Given the description of an element on the screen output the (x, y) to click on. 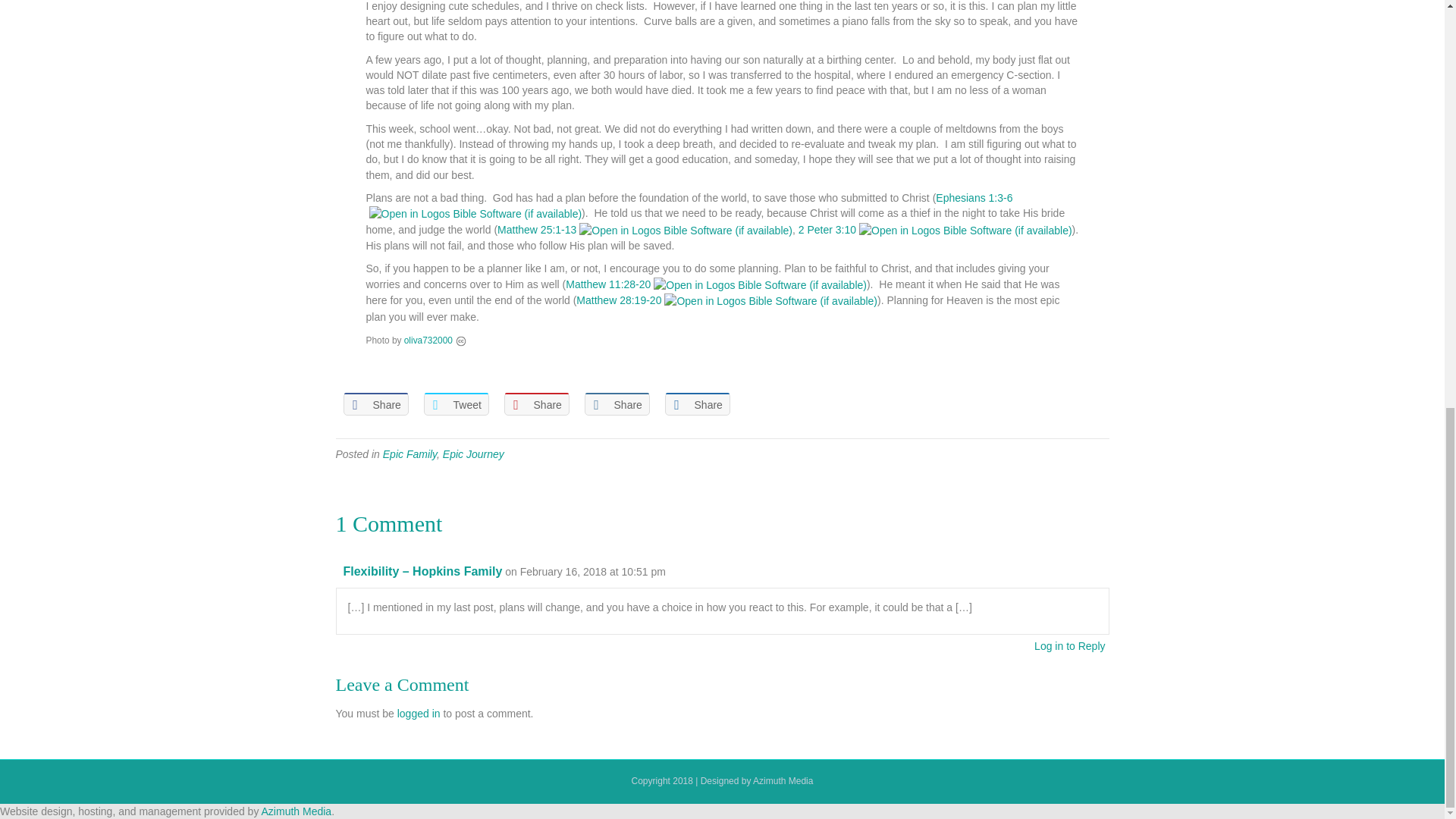
Share on LinkedIn (616, 404)
Azimuth Media (296, 811)
Epic Journey (472, 453)
Share on Digg (696, 404)
Share (696, 404)
Log in to Reply (1069, 645)
2 Peter 3:10 (826, 229)
Share (536, 404)
Share (374, 404)
Ephesians 1:3-6 (973, 197)
